Given the description of an element on the screen output the (x, y) to click on. 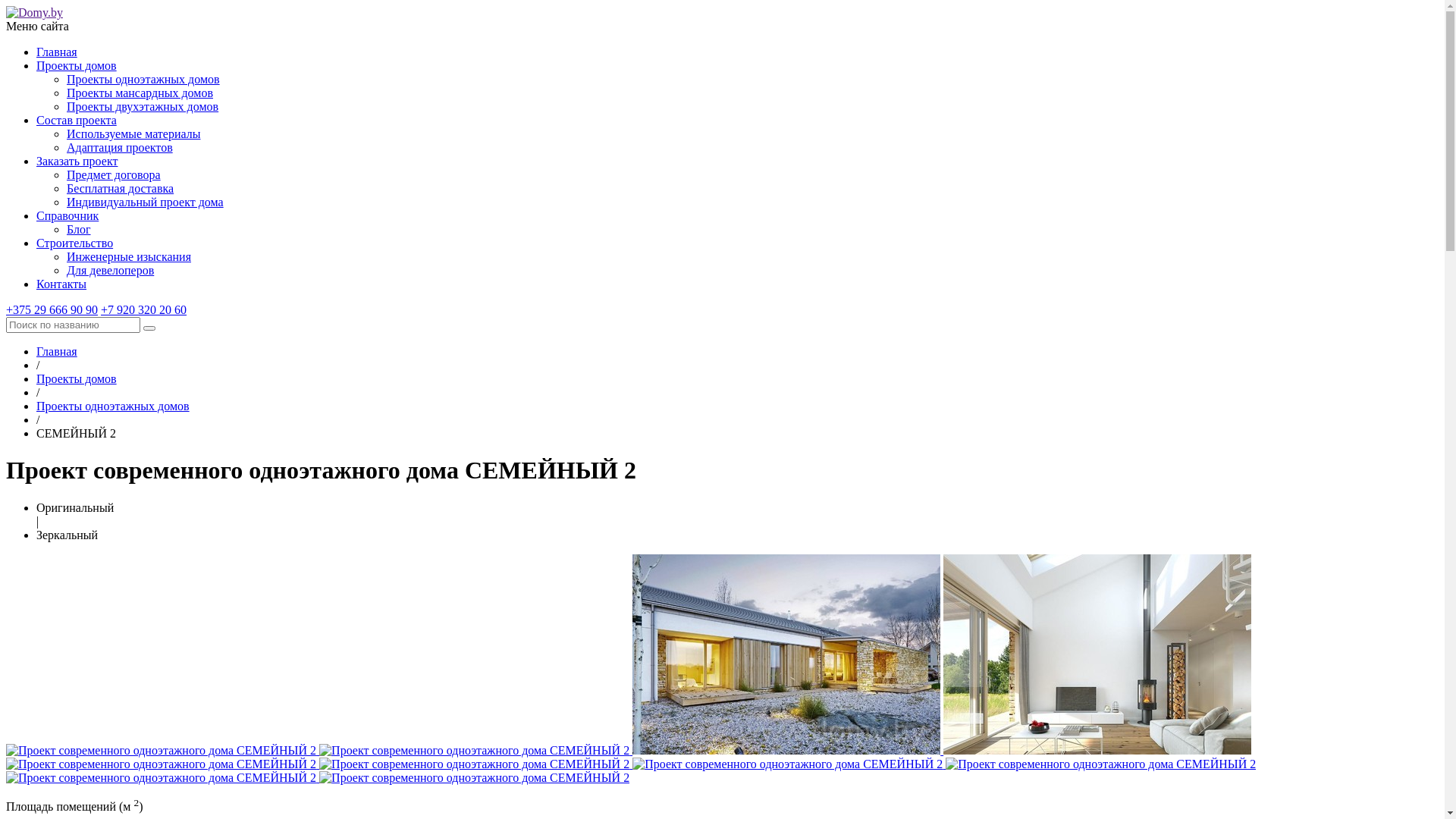
+7 920 320 20 60 Element type: text (143, 309)
+375 29 666 90 90 Element type: text (51, 309)
